Given the description of an element on the screen output the (x, y) to click on. 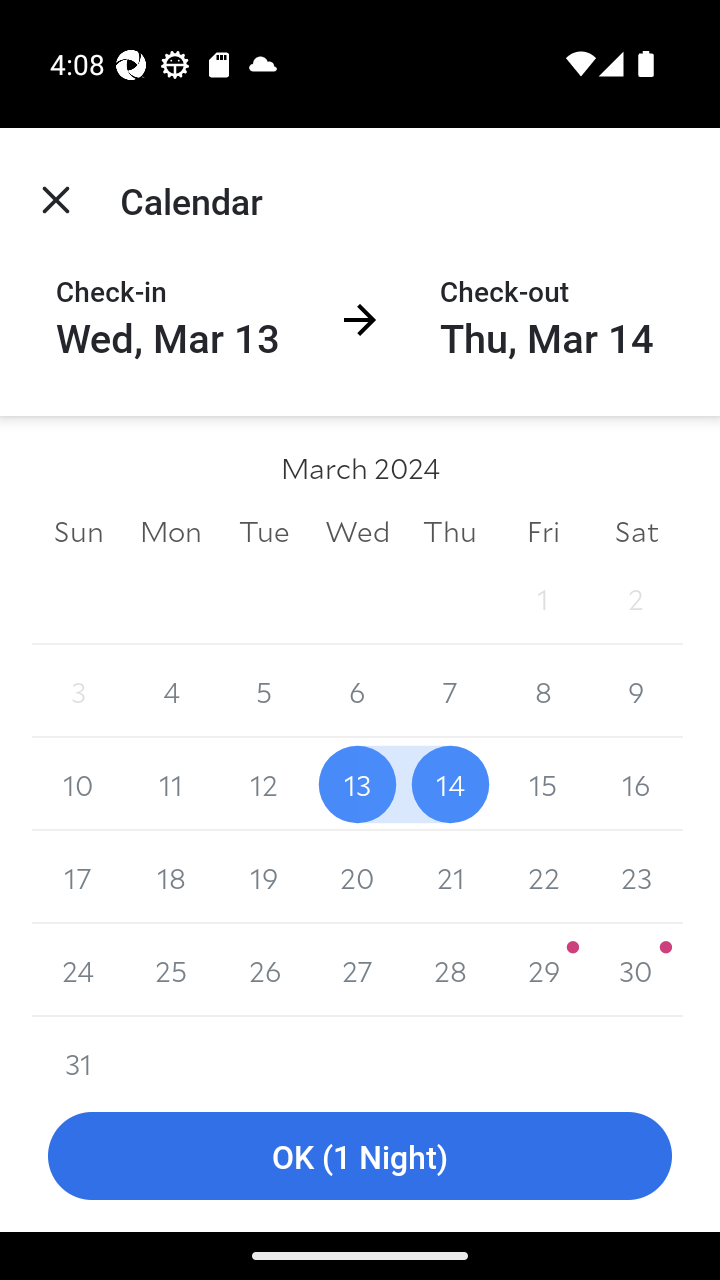
Sun (78, 530)
Mon (171, 530)
Tue (264, 530)
Wed (357, 530)
Thu (449, 530)
Fri (542, 530)
Sat (636, 530)
1 1 March 2024 (542, 598)
2 2 March 2024 (636, 598)
3 3 March 2024 (78, 691)
4 4 March 2024 (171, 691)
5 5 March 2024 (264, 691)
6 6 March 2024 (357, 691)
7 7 March 2024 (449, 691)
8 8 March 2024 (542, 691)
9 9 March 2024 (636, 691)
10 10 March 2024 (78, 784)
11 11 March 2024 (171, 784)
12 12 March 2024 (264, 784)
13 13 March 2024 (357, 784)
14 14 March 2024 (449, 784)
15 15 March 2024 (542, 784)
16 16 March 2024 (636, 784)
17 17 March 2024 (78, 877)
18 18 March 2024 (171, 877)
19 19 March 2024 (264, 877)
20 20 March 2024 (357, 877)
21 21 March 2024 (449, 877)
22 22 March 2024 (542, 877)
23 23 March 2024 (636, 877)
24 24 March 2024 (78, 970)
25 25 March 2024 (171, 970)
26 26 March 2024 (264, 970)
27 27 March 2024 (357, 970)
28 28 March 2024 (449, 970)
29 29 March 2024 (542, 970)
30 30 March 2024 (636, 970)
31 31 March 2024 (78, 1048)
OK (1 Night) (359, 1156)
